Given the description of an element on the screen output the (x, y) to click on. 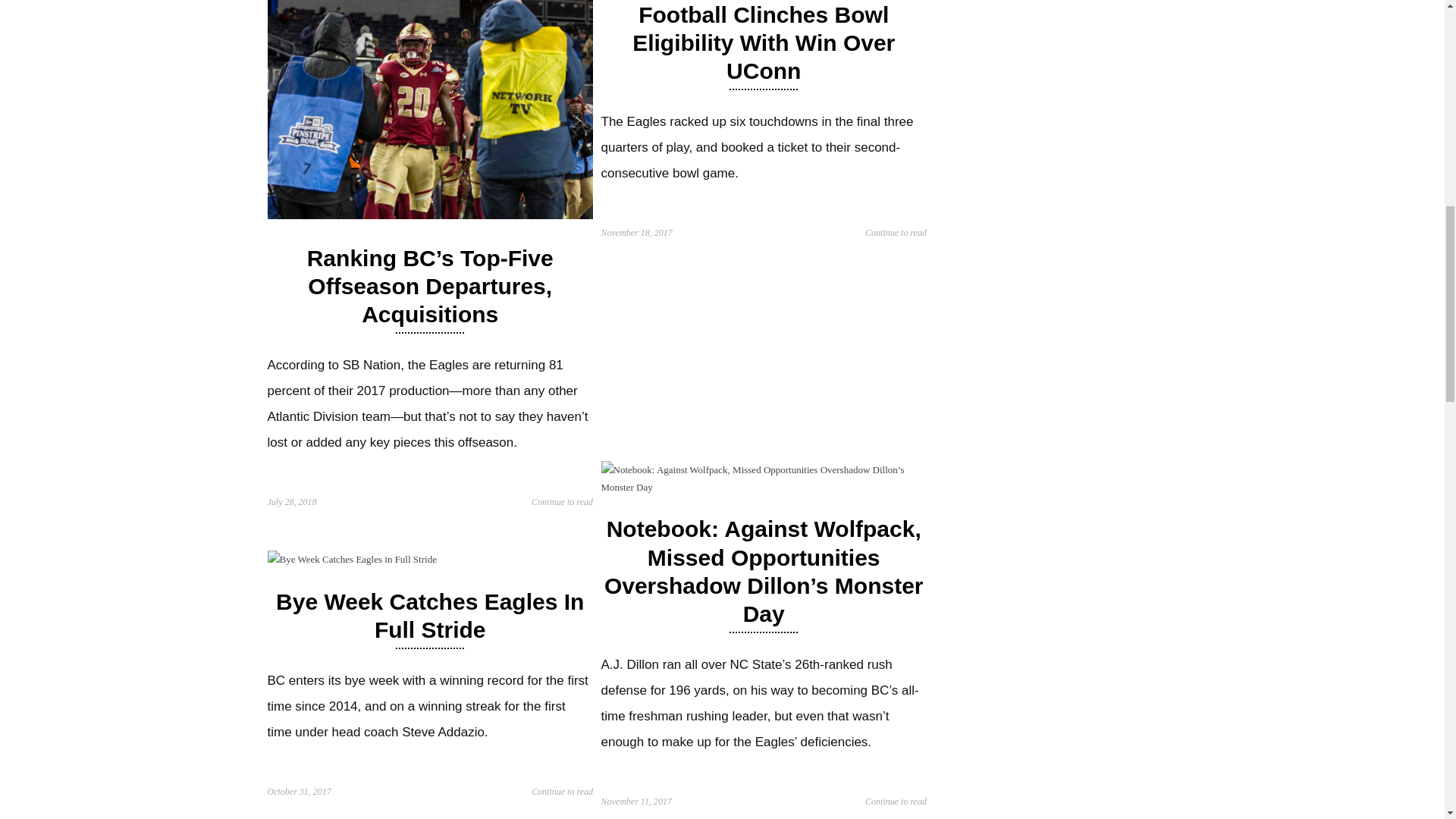
Bye Week Catches Eagles in Full Stride (350, 559)
Football Clinches Bowl Eligibility With Win Over UConn (763, 42)
Bye Week Catches Eagles in Full Stride (429, 615)
Continue to read (561, 502)
Football Clinches Bowl Eligibility With Win Over UConn (763, 42)
Continue to read (895, 232)
